Given the description of an element on the screen output the (x, y) to click on. 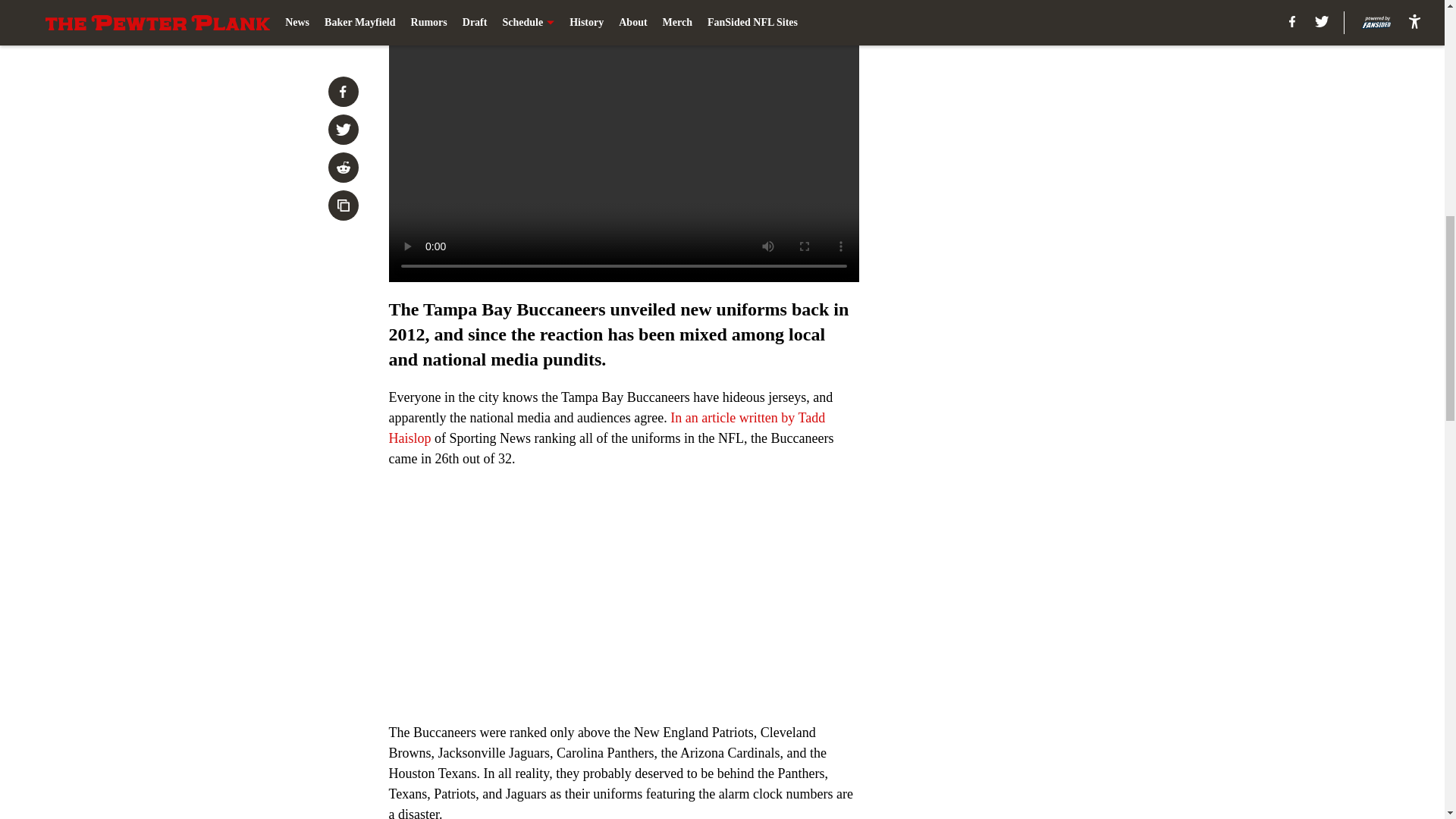
In an article written by Tadd Haislop (606, 427)
3rd party ad content (1047, 113)
3rd party ad content (1047, 332)
